Given the description of an element on the screen output the (x, y) to click on. 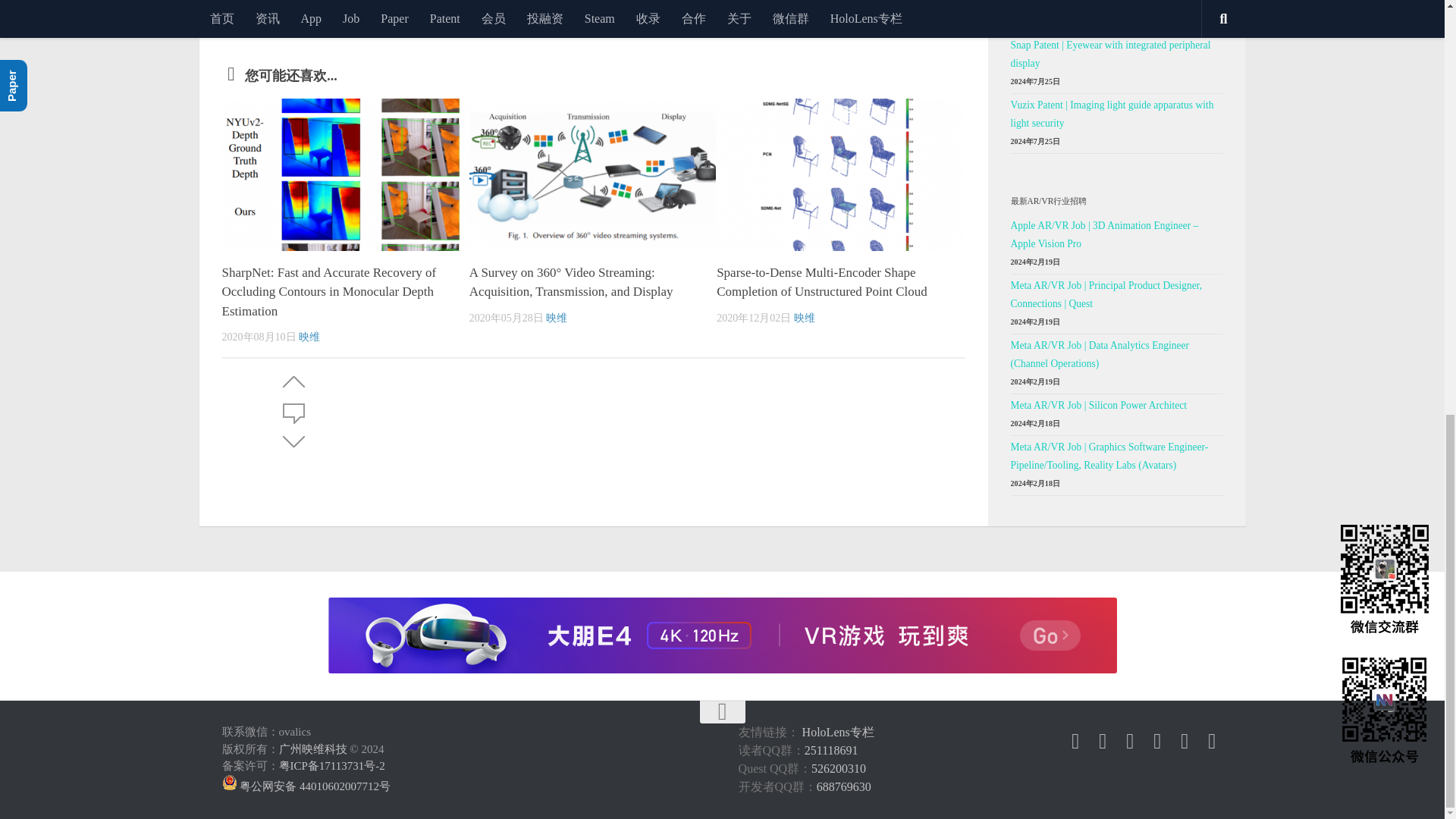
Twitter (1102, 741)
